Given the description of an element on the screen output the (x, y) to click on. 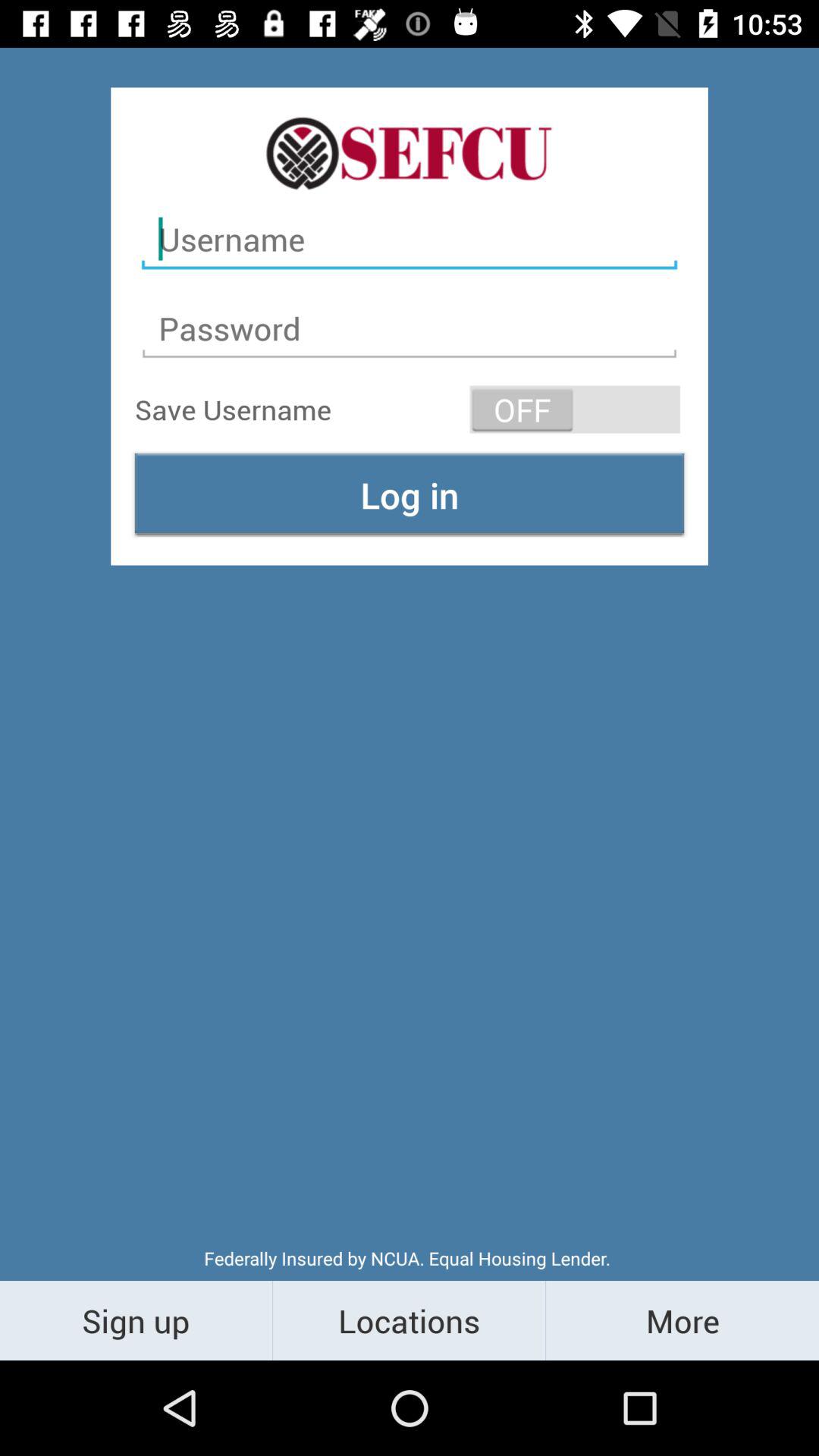
select icon at the center (409, 494)
